Given the description of an element on the screen output the (x, y) to click on. 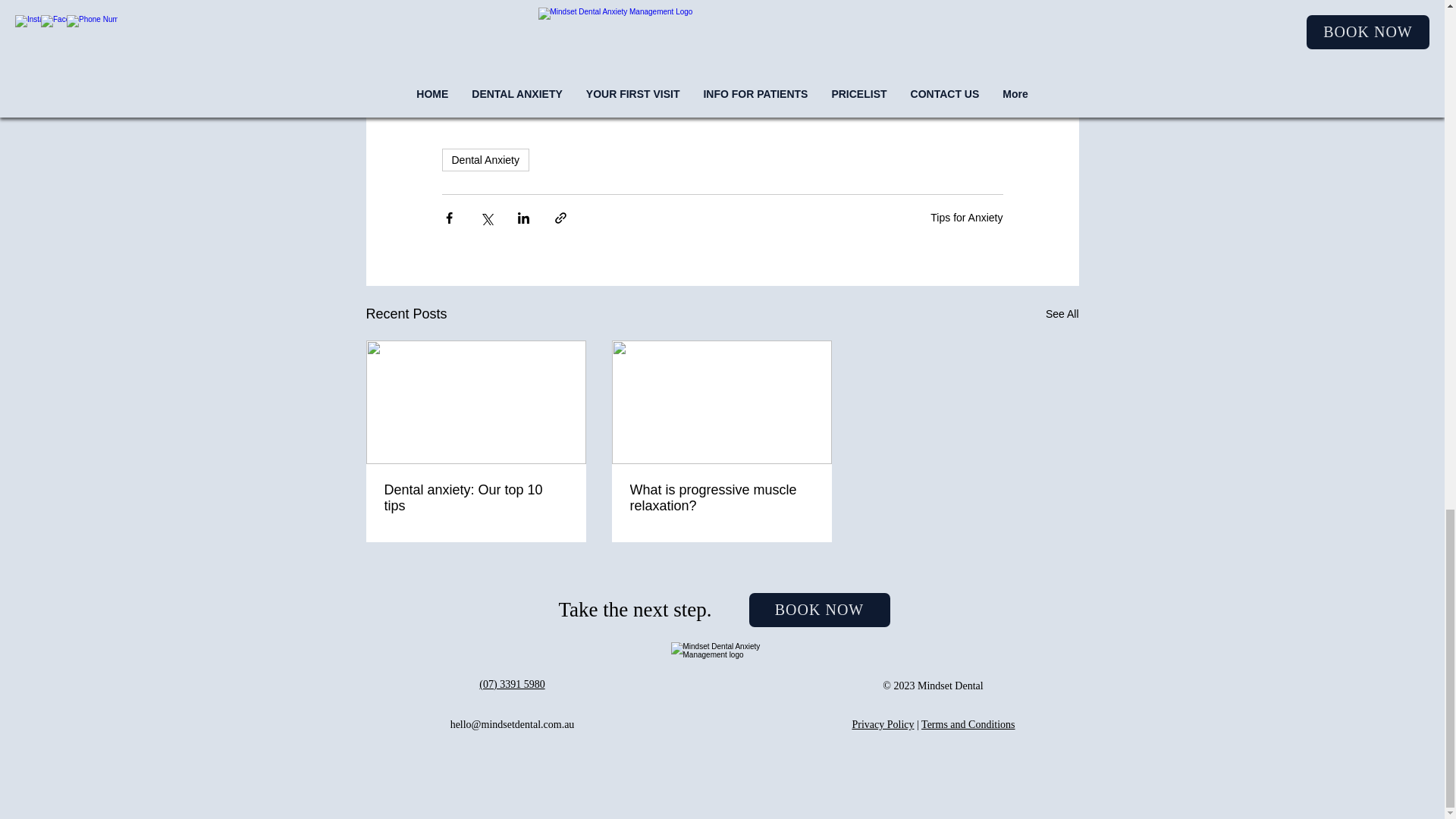
See All (1061, 314)
Terms and Conditions (967, 724)
Tips for Anxiety (966, 216)
Privacy Policy (882, 724)
Dental anxiety: Our top 10 tips (475, 498)
Dental Anxiety (485, 159)
BOOK NOW (819, 609)
What is progressive muscle relaxation? (720, 498)
